Given the description of an element on the screen output the (x, y) to click on. 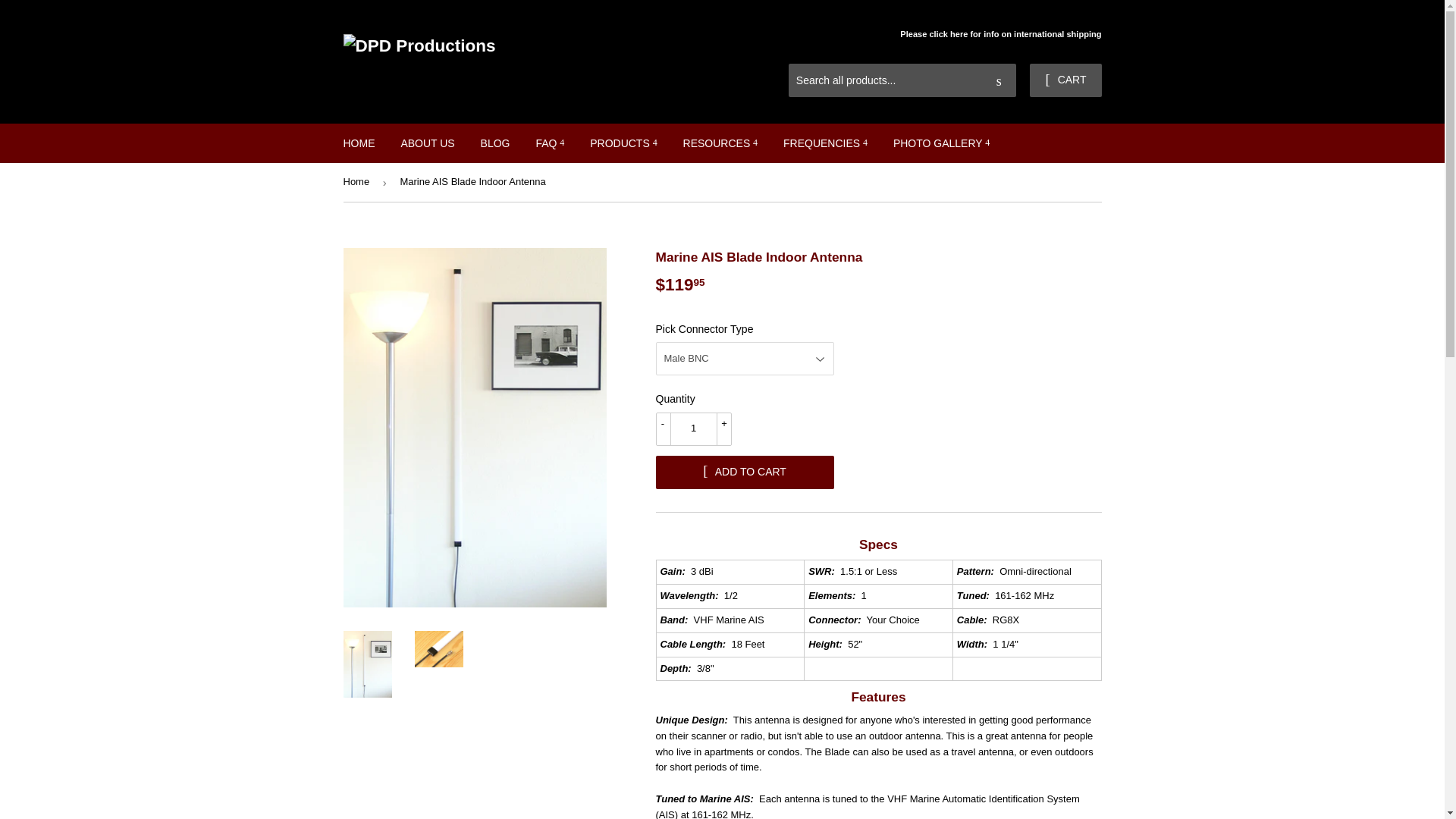
Please click here for info on international shipping (999, 34)
1 (692, 428)
Search (998, 81)
CART (1064, 80)
